Given the description of an element on the screen output the (x, y) to click on. 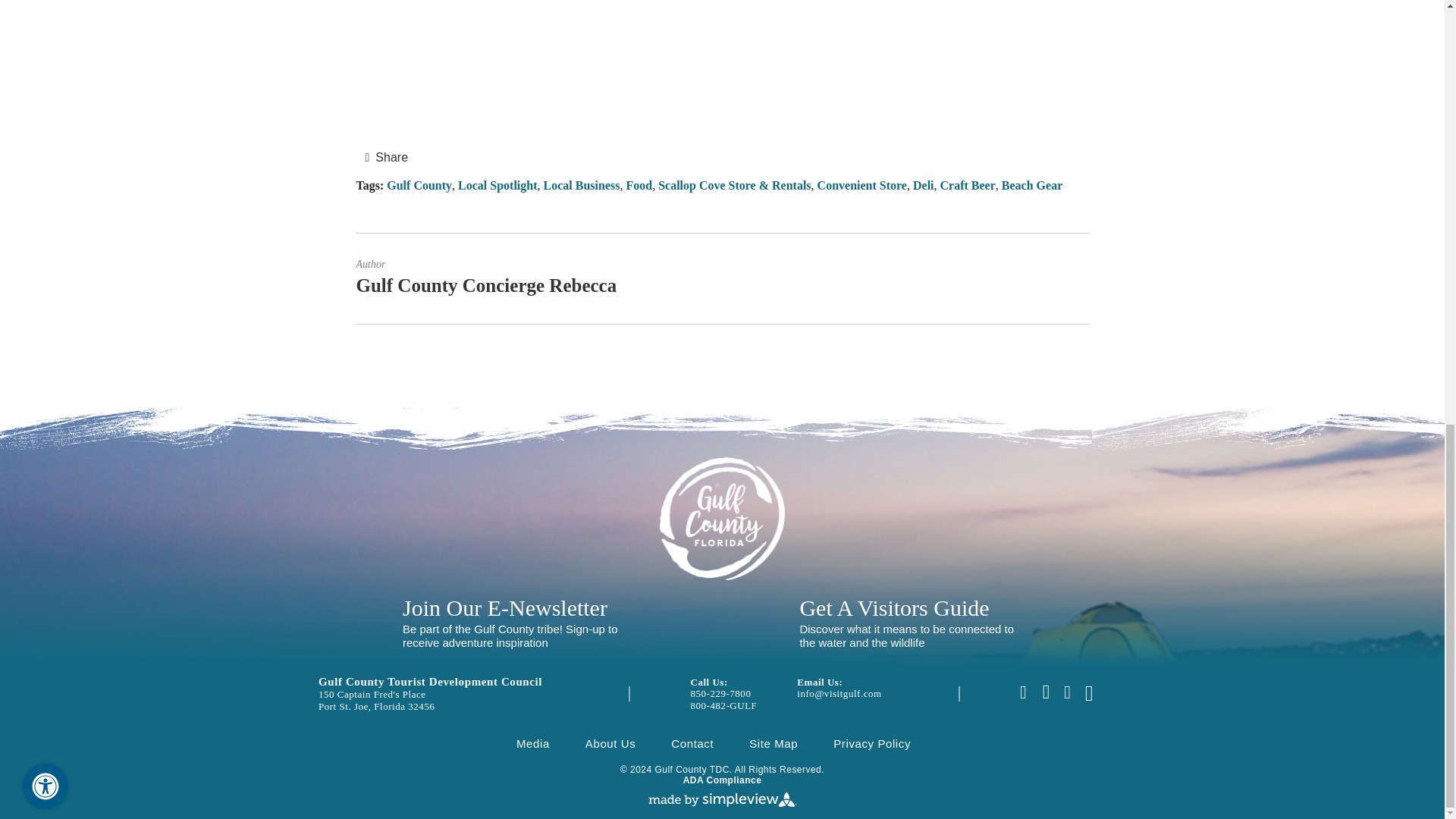
Site Map (773, 743)
Scallop Cove (722, 54)
Contact (692, 743)
Media (533, 743)
Privacy Policy (871, 743)
About Us (610, 743)
